Given the description of an element on the screen output the (x, y) to click on. 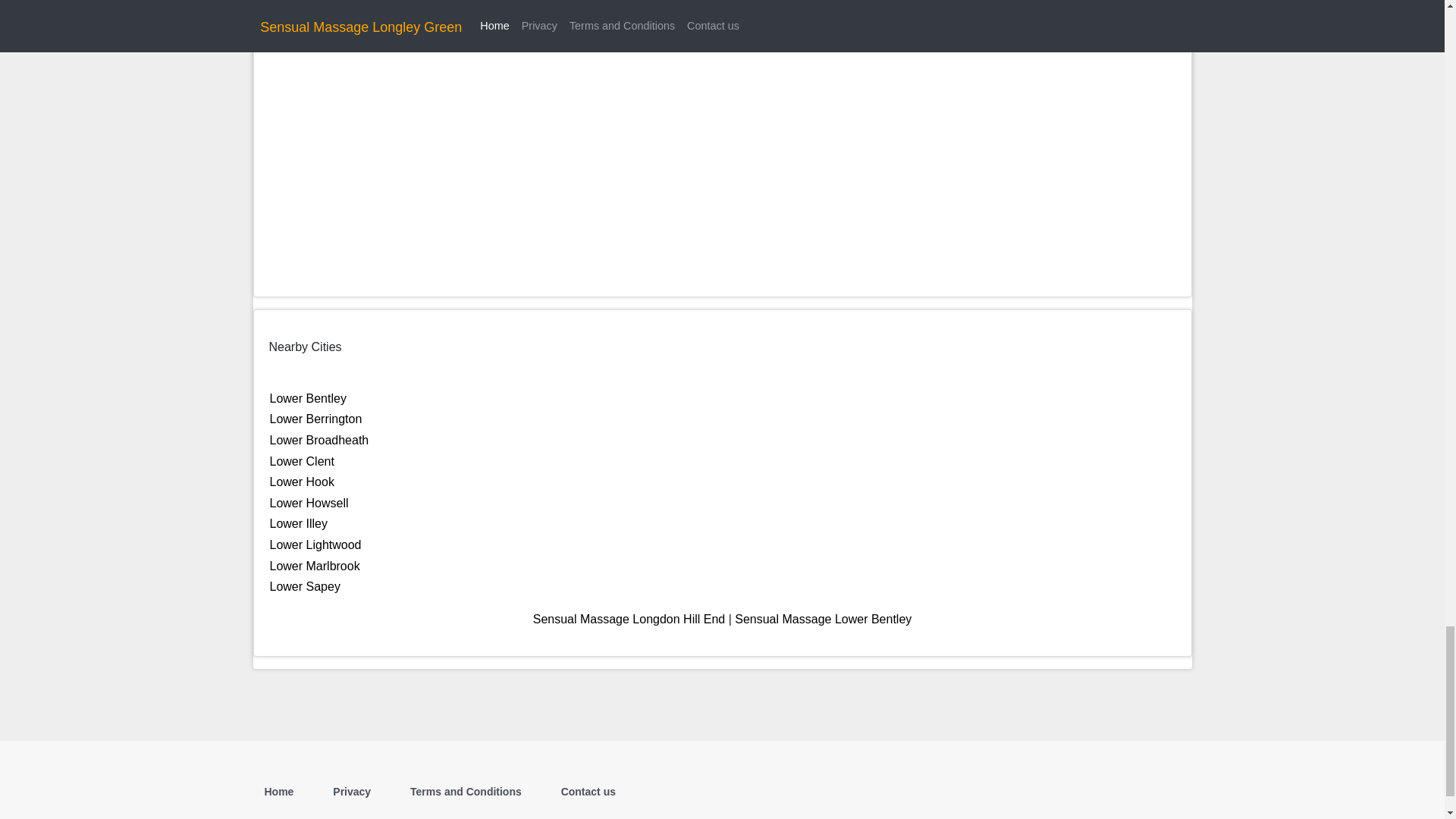
Lower Berrington (315, 418)
Lower Lightwood (315, 544)
Lower Illey (298, 522)
Sensual Massage Longdon Hill End (628, 618)
Lower Clent (301, 461)
Sensual Massage Lower Bentley (823, 618)
Lower Howsell (309, 502)
Lower Marlbrook (314, 565)
Lower Sapey (304, 585)
Lower Bentley (307, 398)
